Given the description of an element on the screen output the (x, y) to click on. 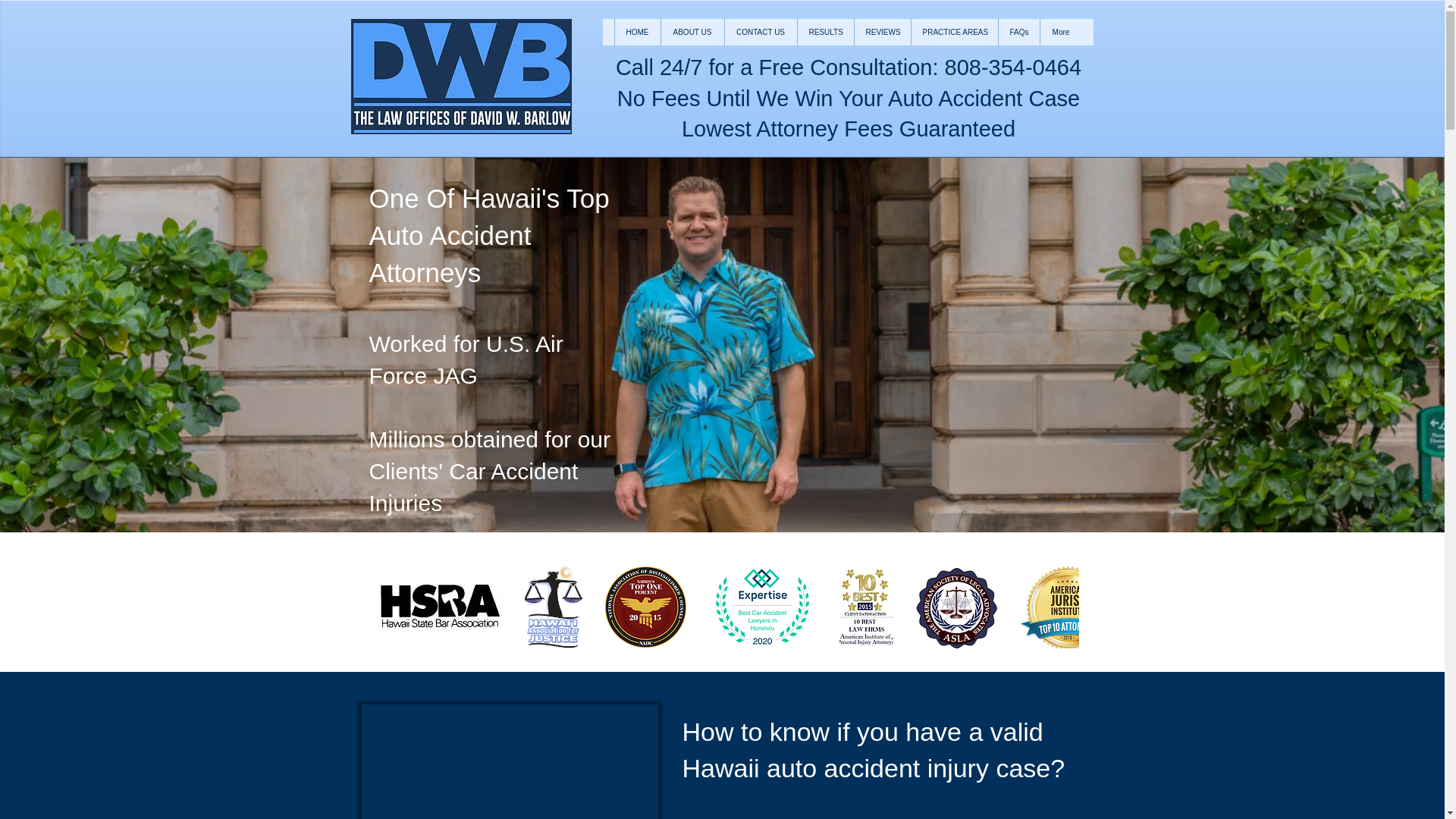
HOME (637, 31)
ABOUT US (691, 31)
RESULTS (824, 31)
REVIEWS (882, 31)
FAQs (1018, 31)
PRACTICE AREAS (953, 31)
CONTACT US (759, 31)
